Given the description of an element on the screen output the (x, y) to click on. 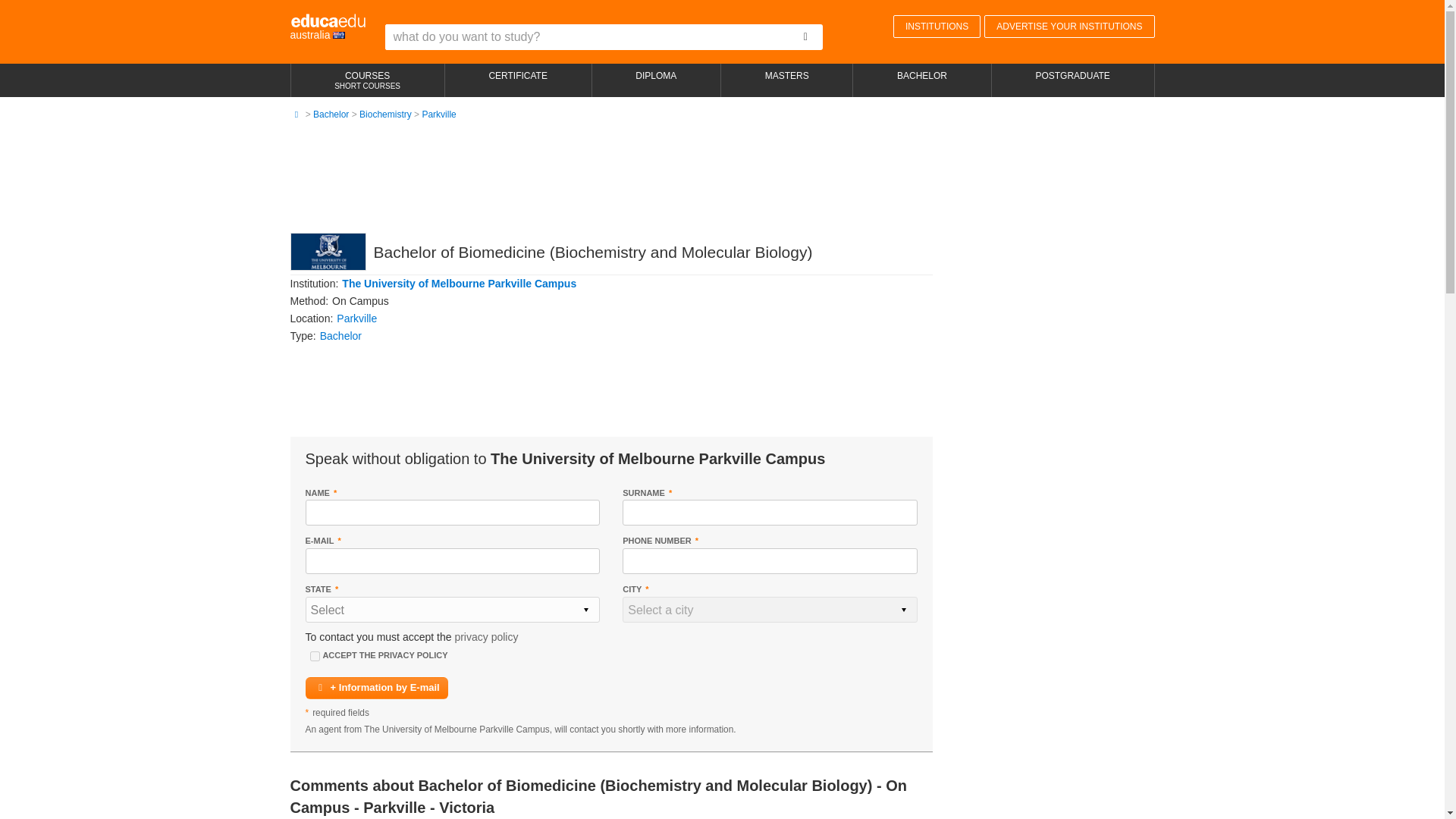
privacy policy (486, 636)
Diploma (656, 80)
The University of Melbourne Parkville Campus (459, 283)
INSTITUTIONS (936, 26)
Bachelor (340, 336)
Bachelor (331, 113)
The University of Melbourne Parkville Campus (459, 283)
australia (328, 26)
Biochemistry (385, 113)
Certificate (518, 80)
